Given the description of an element on the screen output the (x, y) to click on. 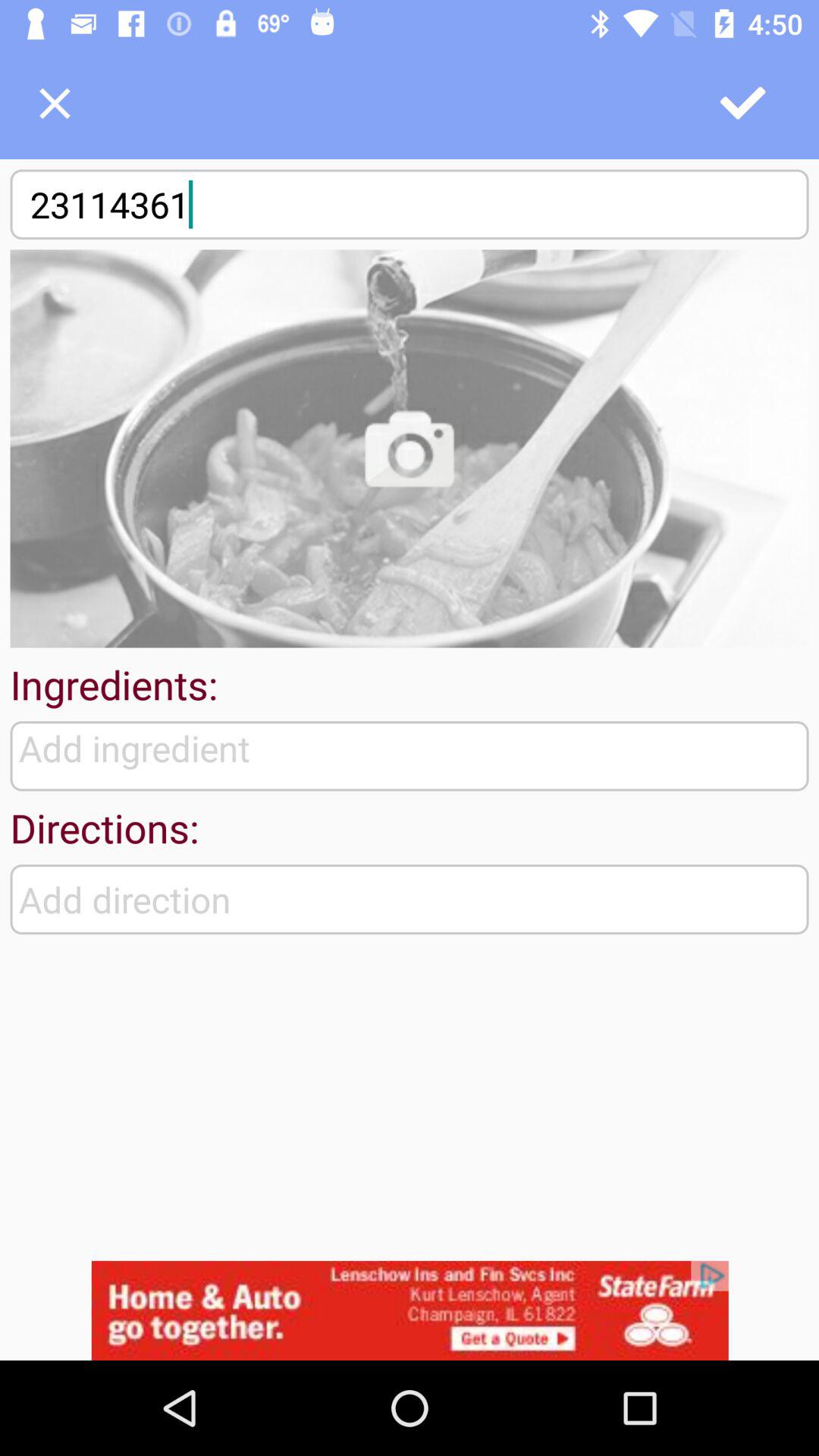
you can find a recipe for your mood easy recipes using ingredients you already have in the kitchen (409, 448)
